Given the description of an element on the screen output the (x, y) to click on. 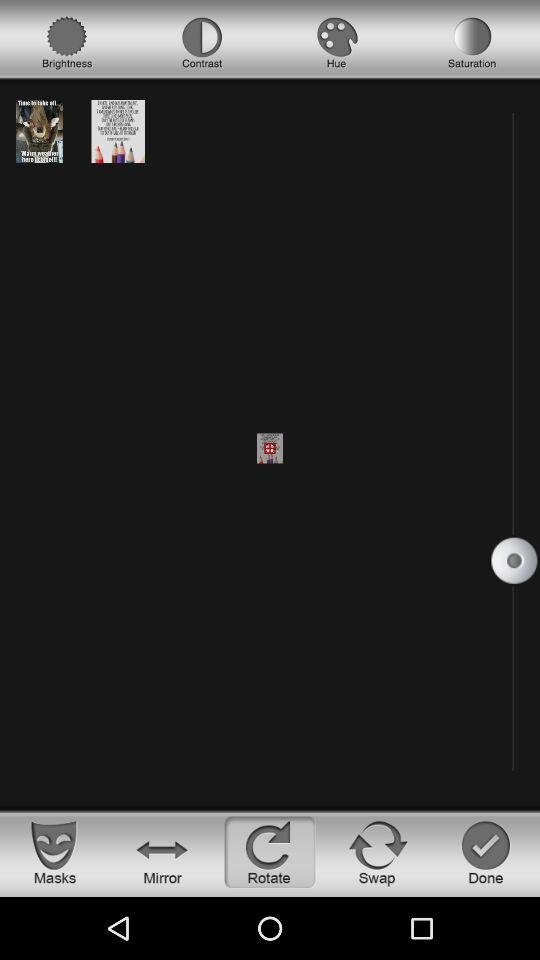
select new image (117, 130)
